Given the description of an element on the screen output the (x, y) to click on. 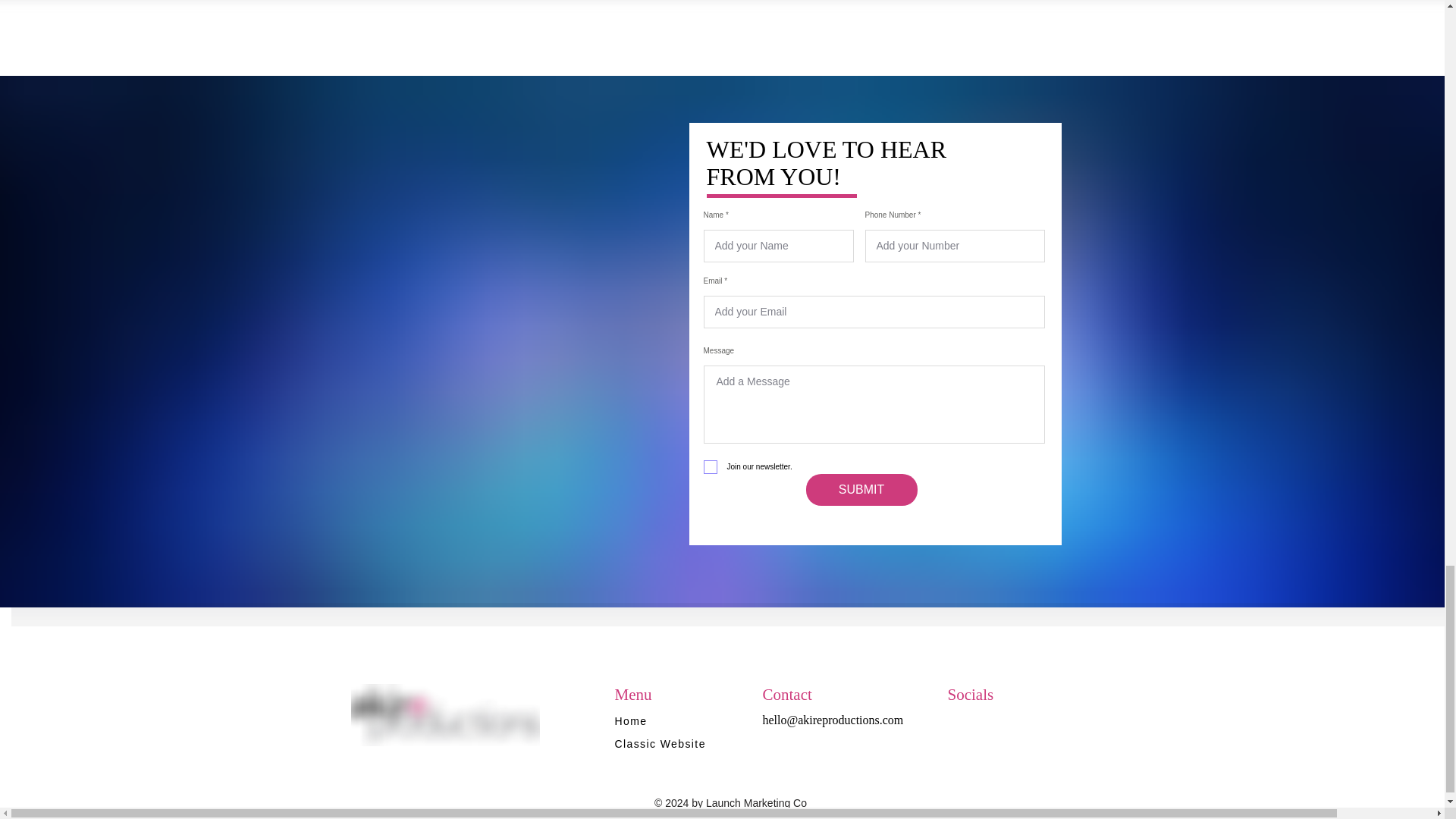
Home (686, 720)
Classic Website (669, 743)
Contact (787, 693)
SUBMIT (861, 490)
WE'D LOVE TO HEAR FROM YOU! (826, 162)
Menu (632, 693)
